Given the description of an element on the screen output the (x, y) to click on. 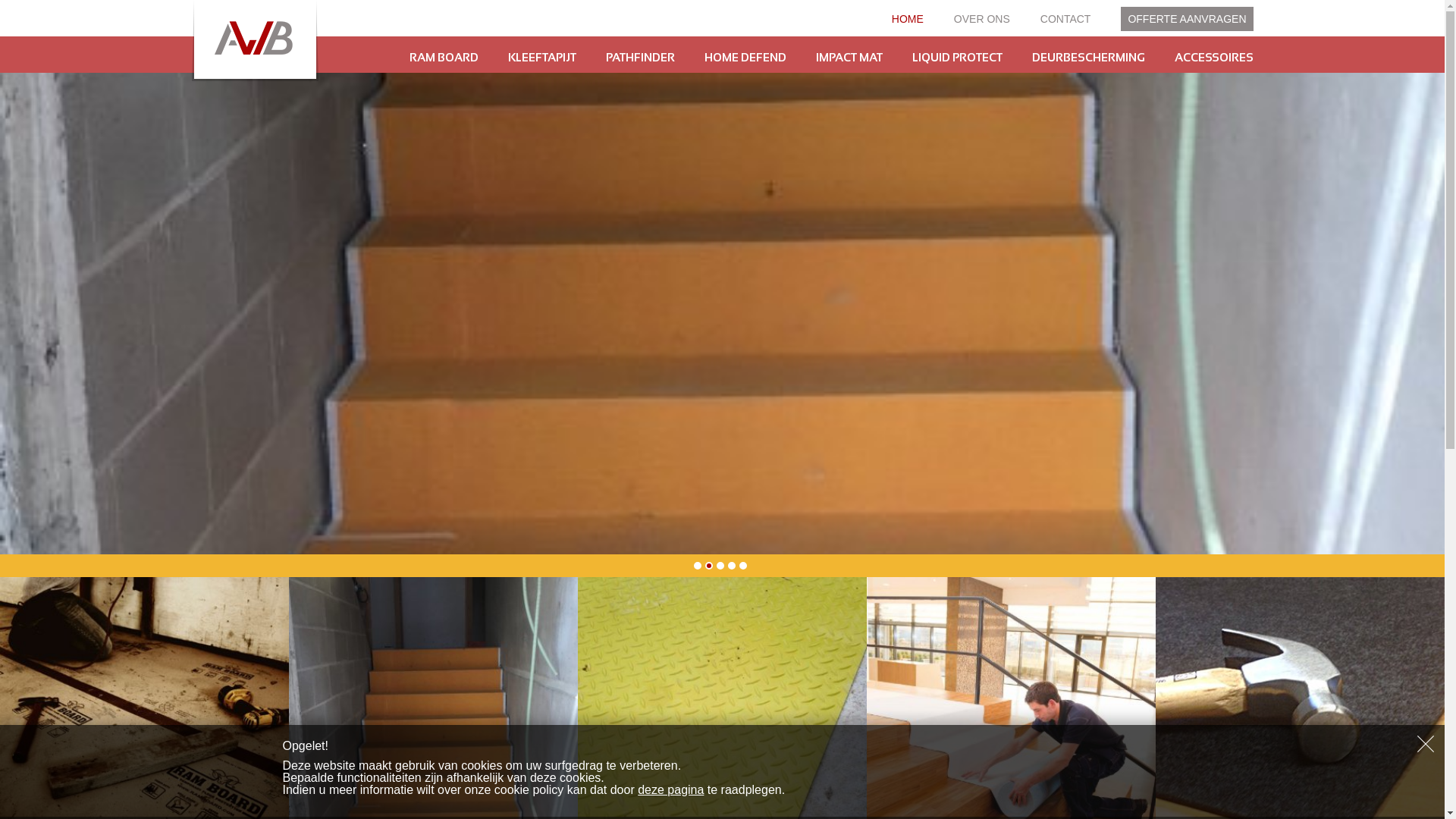
PATHFINDER Element type: text (639, 56)
Sluiten Element type: text (1425, 743)
CONTACT Element type: text (1065, 18)
OFFERTE AANVRAGEN Element type: text (1186, 18)
RAM BOARD Element type: text (443, 56)
HOME Element type: text (907, 18)
LIQUID PROTECT Element type: text (956, 56)
DEURBESCHERMING Element type: text (1087, 56)
IMPACT MAT Element type: text (849, 56)
ACCESSOIRES Element type: text (1213, 56)
deze pagina Element type: text (670, 789)
OVER ONS Element type: text (981, 18)
HOME DEFEND Element type: text (744, 56)
KLEEFTAPIJT Element type: text (541, 56)
